Given the description of an element on the screen output the (x, y) to click on. 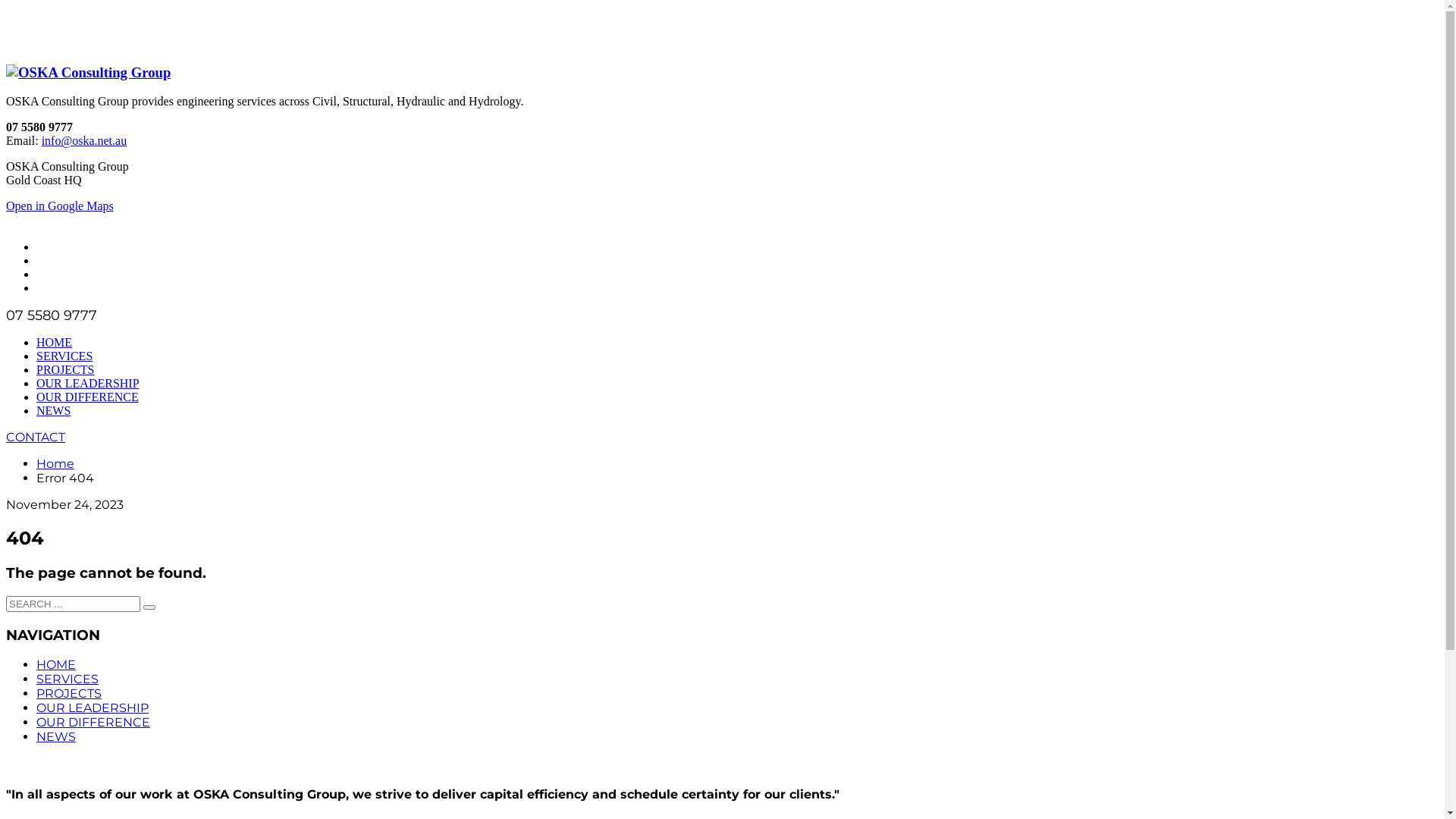
Home Element type: hover (722, 763)
OUR LEADERSHIP Element type: text (92, 707)
OUR DIFFERENCE Element type: text (93, 722)
CONTACT Element type: text (35, 436)
HOME Element type: text (55, 664)
go Element type: text (149, 607)
SERVICES Element type: text (64, 355)
OUR LEADERSHIP Element type: text (87, 382)
Civil Structural Hydraulic Hydrology Engineers Element type: hover (88, 72)
PROJECTS Element type: text (68, 693)
PROJECTS Element type: text (65, 369)
info@oska.net.au Element type: text (83, 140)
NEWS Element type: text (55, 736)
Home Element type: text (55, 463)
Open in Google Maps Element type: text (59, 205)
OUR DIFFERENCE Element type: text (87, 396)
HOME Element type: text (54, 341)
SERVICES Element type: text (67, 678)
NEWS Element type: text (53, 410)
